Given the description of an element on the screen output the (x, y) to click on. 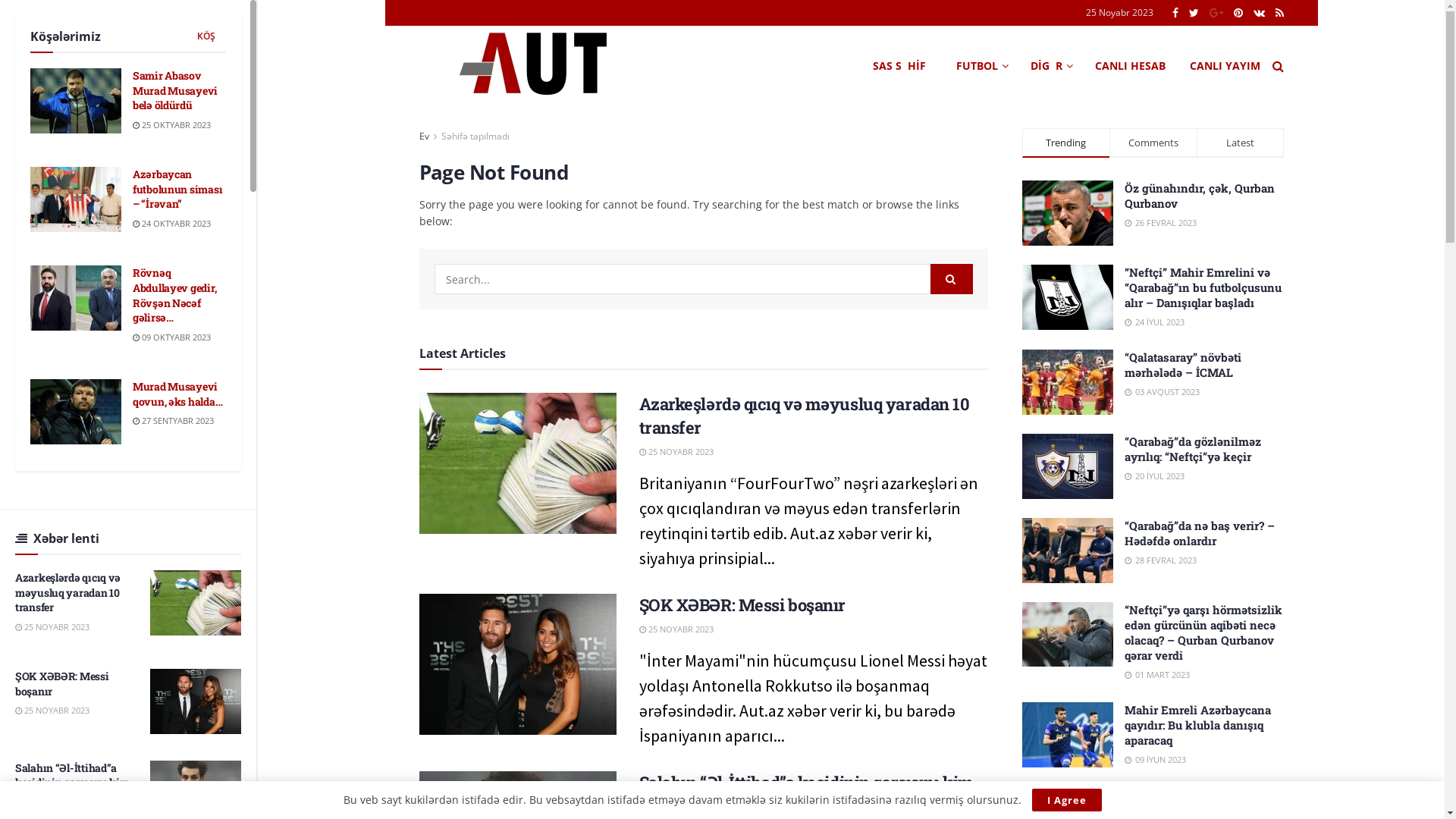
09 OKTYABR 2023 Element type: text (171, 336)
25 NOYABR 2023 Element type: text (52, 626)
CANLI HESAB Element type: text (1129, 65)
Ev Element type: text (423, 135)
24 OKTYABR 2023 Element type: text (171, 223)
FUTBOL Element type: text (980, 65)
27 SENTYABR 2023 Element type: text (172, 420)
25 NOYABR 2023 Element type: text (675, 451)
25 NOYABR 2023 Element type: text (52, 709)
I Agree Element type: text (1066, 799)
CANLI YAYIM Element type: text (1223, 65)
25 NOYABR 2023 Element type: text (675, 628)
25 OKTYABR 2023 Element type: text (171, 124)
